Given the description of an element on the screen output the (x, y) to click on. 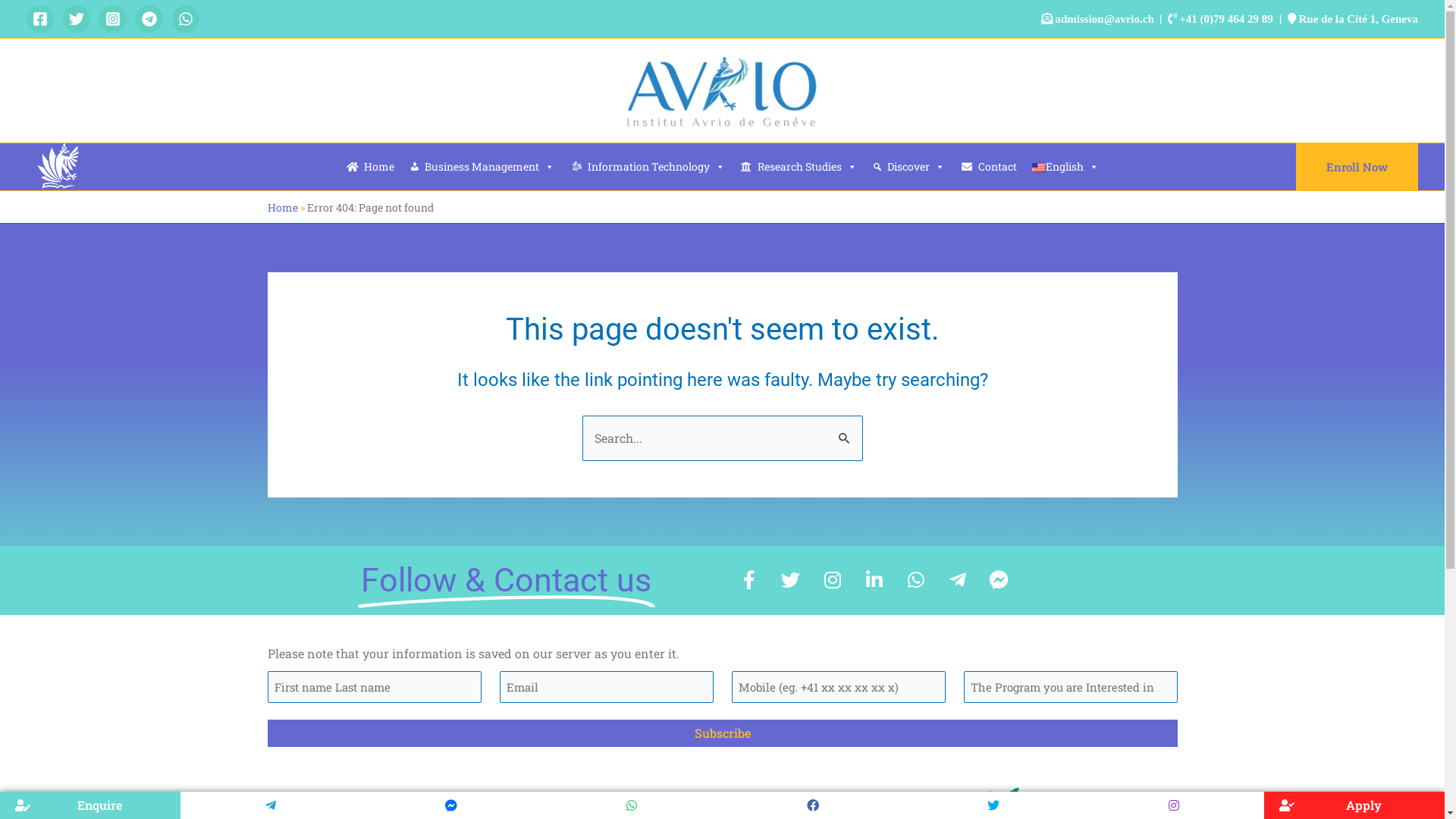
Search Element type: text (845, 431)
Facebook-messenger Element type: text (998, 580)
Information Technology Element type: text (646, 166)
Home Element type: text (369, 166)
Research Studies Element type: text (798, 166)
Linkedin-in Element type: text (874, 580)
English Element type: hover (1037, 167)
Home Element type: text (281, 207)
Instagram Element type: text (831, 580)
Whatsapp Element type: text (915, 580)
Subscribe Element type: text (721, 732)
Facebook-f Element type: text (748, 580)
Twitter Element type: text (790, 580)
Enroll Now Element type: text (1356, 166)
English Element type: text (1064, 166)
Discover Element type: text (908, 166)
Telegram-plane Element type: text (957, 580)
Contact Element type: text (988, 166)
Business Management Element type: text (481, 166)
